Given the description of an element on the screen output the (x, y) to click on. 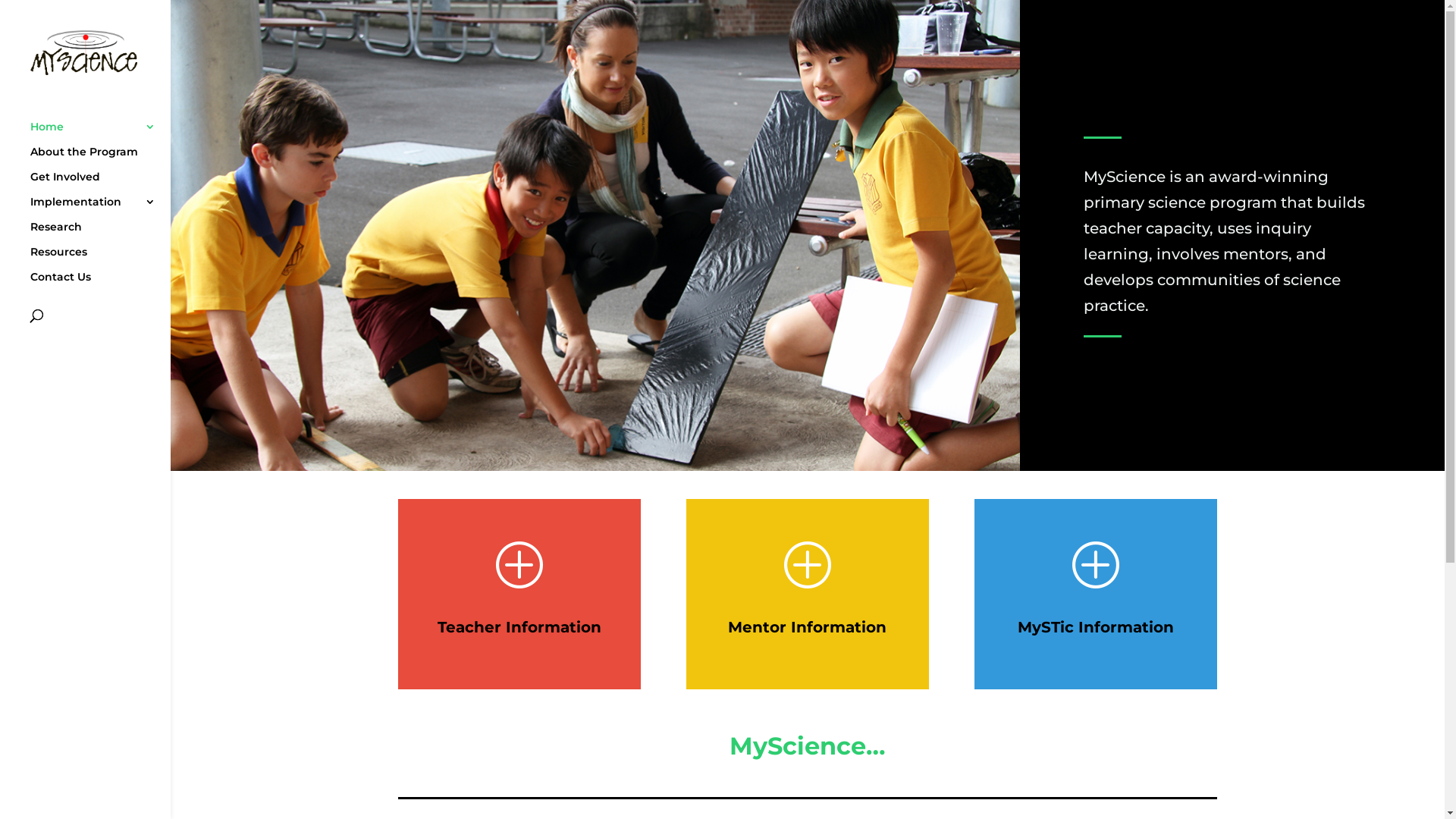
Contact Us Element type: text (100, 283)
Research Element type: text (100, 233)
Home Element type: text (100, 133)
Get Involved Element type: text (100, 183)
Resources Element type: text (100, 258)
About the Program Element type: text (100, 158)
Implementation Element type: text (100, 208)
